Given the description of an element on the screen output the (x, y) to click on. 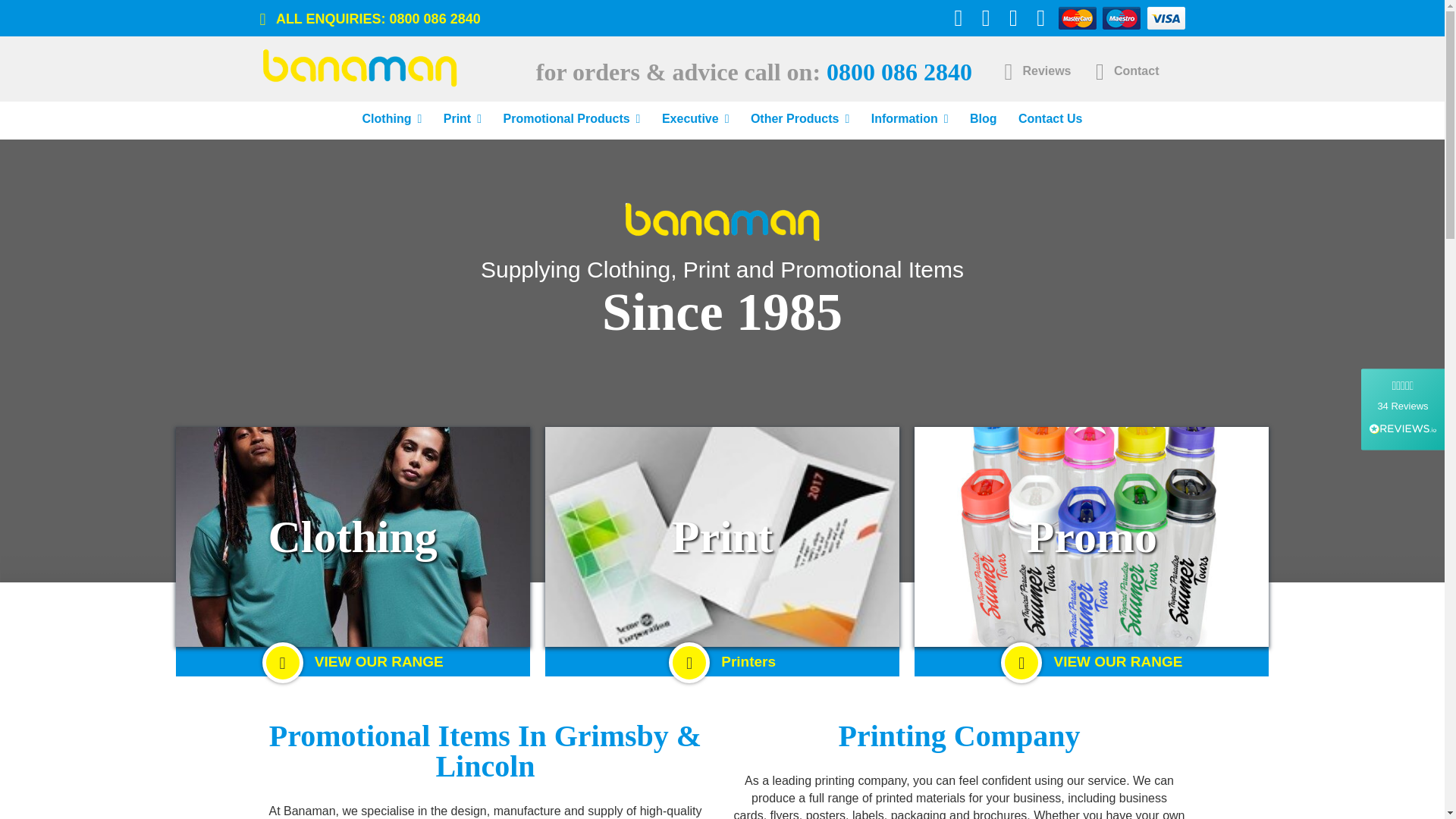
Other Products (799, 120)
Reviews (1037, 70)
Contact (1127, 70)
T-shirts (721, 536)
call us (435, 18)
VIEW OUR RANGE (352, 661)
Clothing (392, 120)
Promotional Products (571, 120)
Banaman Clothing (358, 67)
0800 086 2840 (435, 18)
Maestro (1121, 17)
Visa (1166, 17)
Contact (1127, 70)
Executive (695, 120)
Reviews (1037, 70)
